Given the description of an element on the screen output the (x, y) to click on. 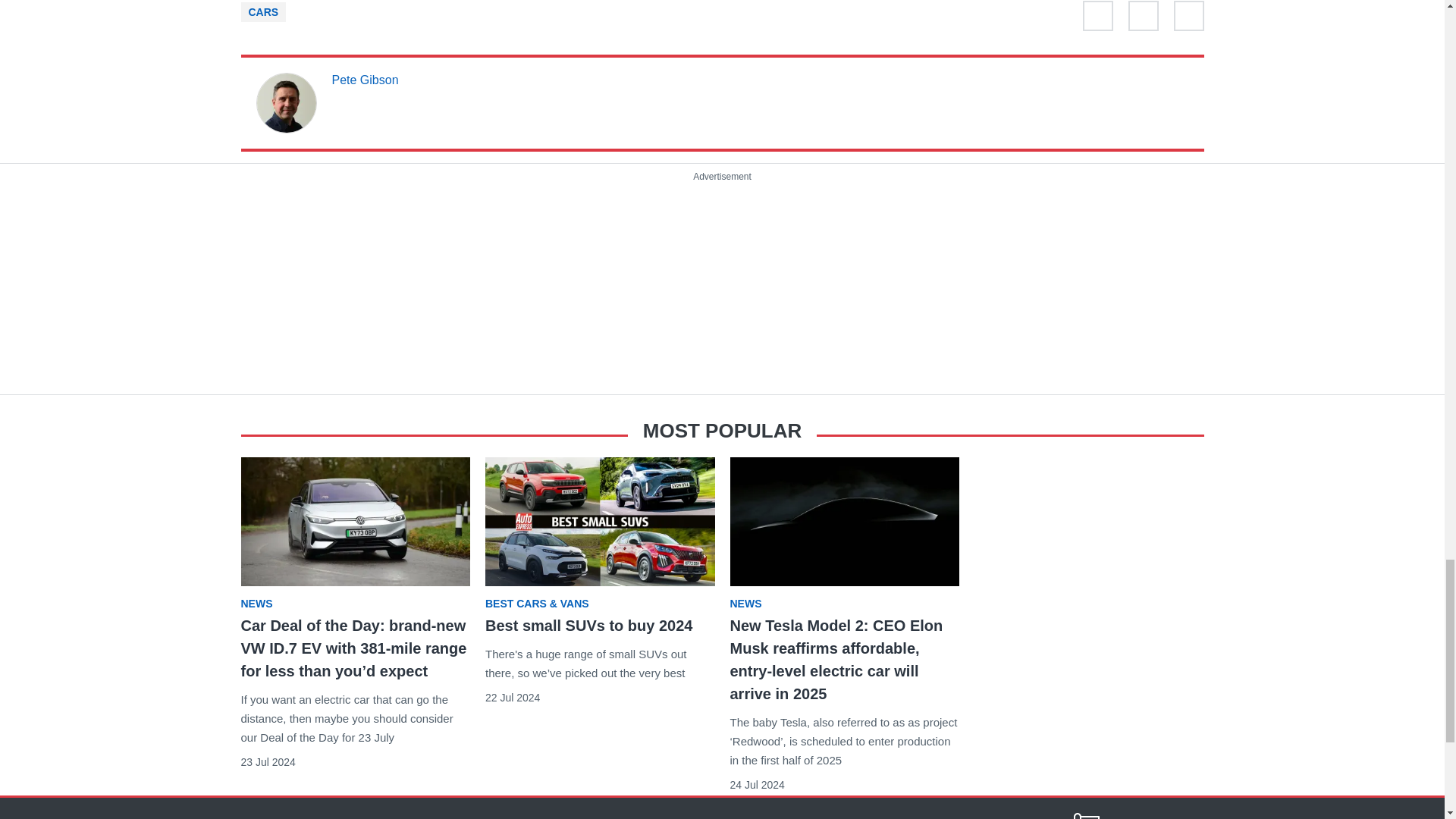
Share this on Twitter (1098, 19)
Email (1188, 19)
Pete Gibson (364, 79)
Share this on Facebook (1143, 19)
